Given the description of an element on the screen output the (x, y) to click on. 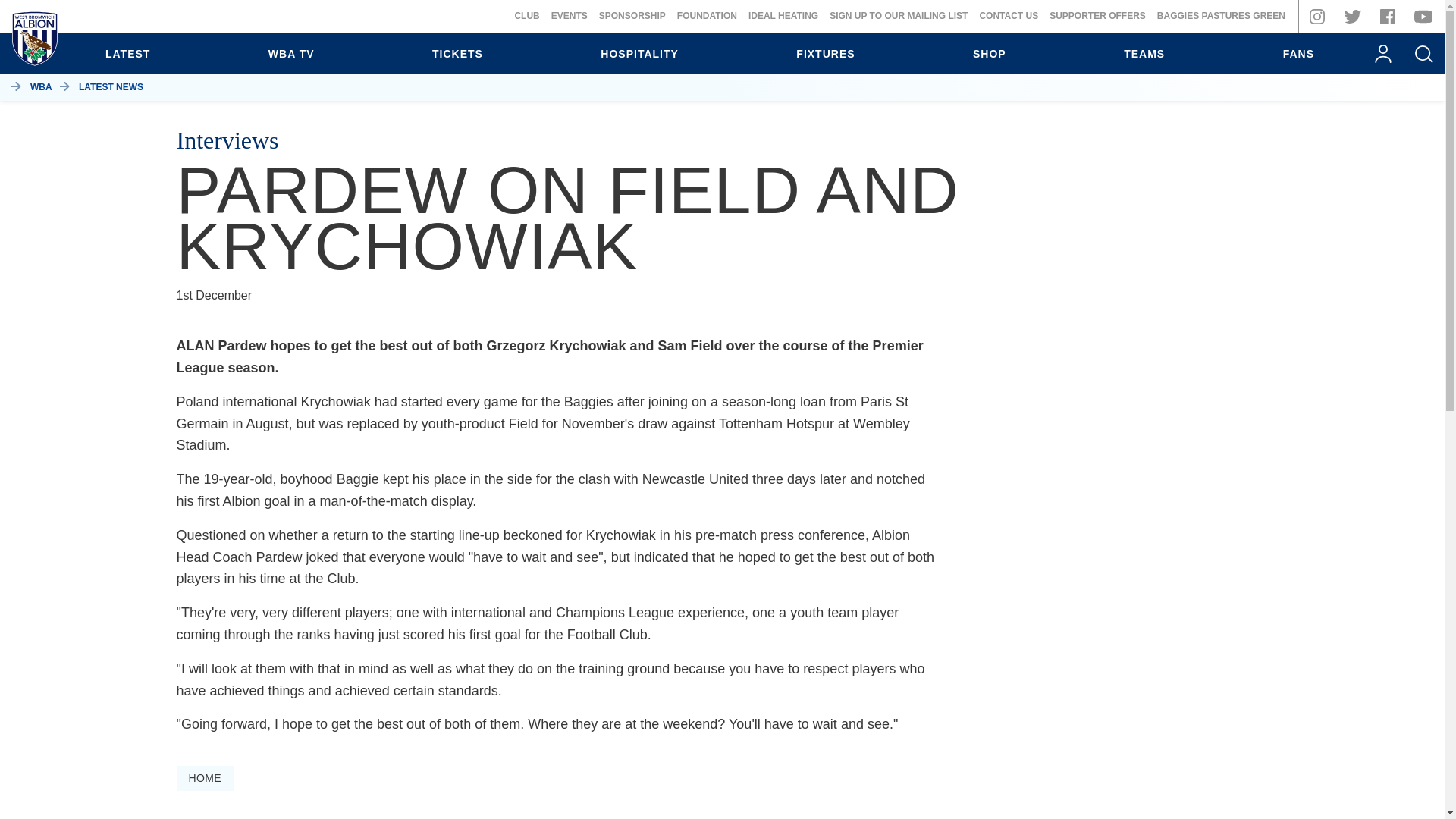
EVENTS (569, 15)
CONTACT US (1008, 15)
CLUB (525, 15)
The Albion Foundation (706, 15)
Latest (127, 53)
SIGN UP TO OUR MAILING LIST (898, 15)
SPONSORSHIP (631, 15)
SUPPORTER OFFERS (1097, 15)
FOUNDATION (706, 15)
